Given the description of an element on the screen output the (x, y) to click on. 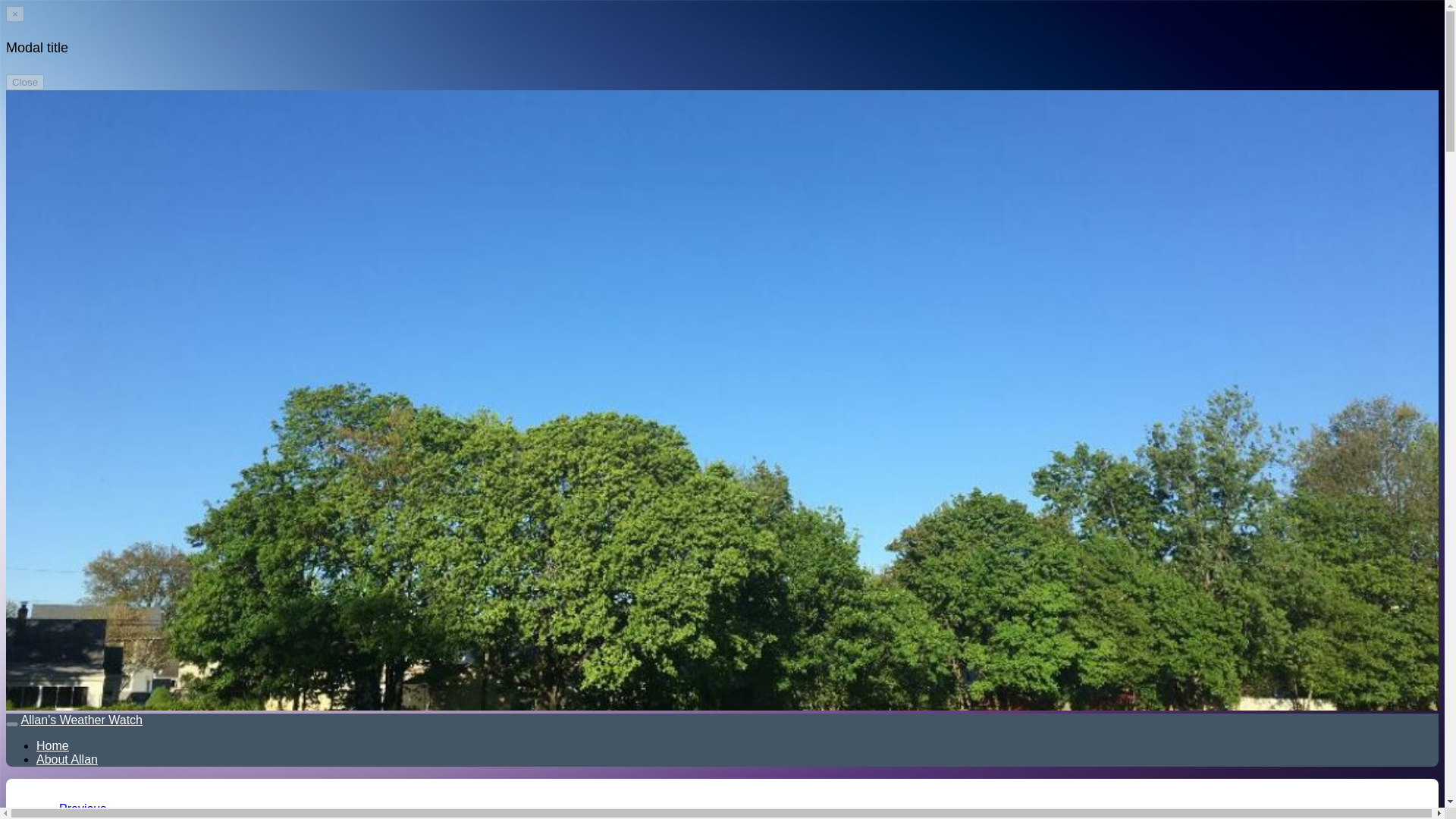
Allan's Weather Watch (81, 719)
About Allan (66, 758)
Home (52, 745)
Previous (82, 808)
Next (71, 817)
Close (24, 82)
